Given the description of an element on the screen output the (x, y) to click on. 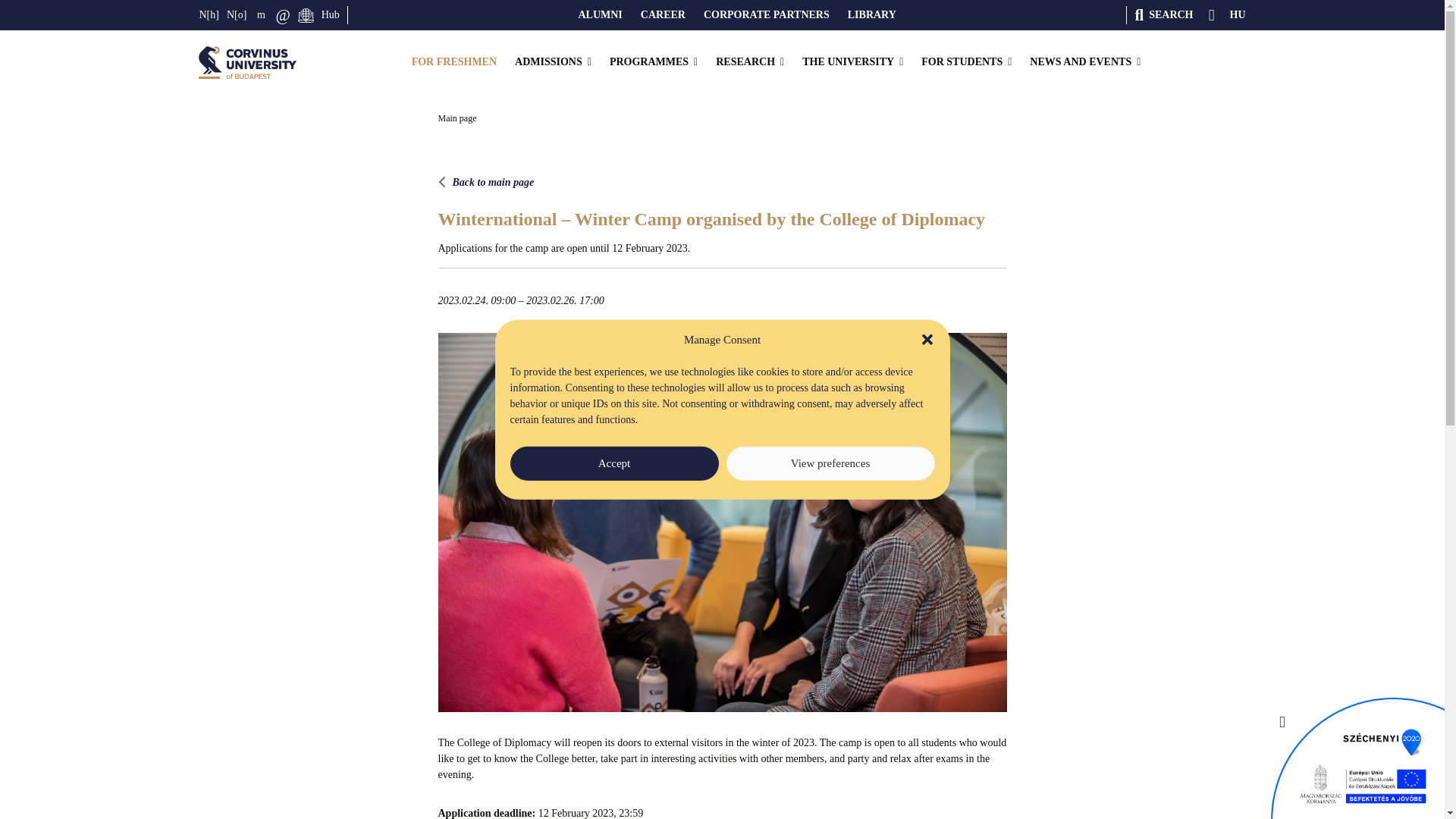
ADMISSIONS (553, 62)
MyCorvinus Hub (330, 14)
SEARCH (1163, 14)
CORPORATE PARTNERS (766, 14)
FOR FRESHMEN (453, 62)
Search (1163, 14)
Teacher NEPTUN (236, 14)
View preferences (830, 462)
LIBRARY (871, 14)
Accept (613, 462)
CAREER (662, 14)
Student NEPTUN (208, 14)
ALUMNI (599, 14)
Hub (330, 14)
